Given the description of an element on the screen output the (x, y) to click on. 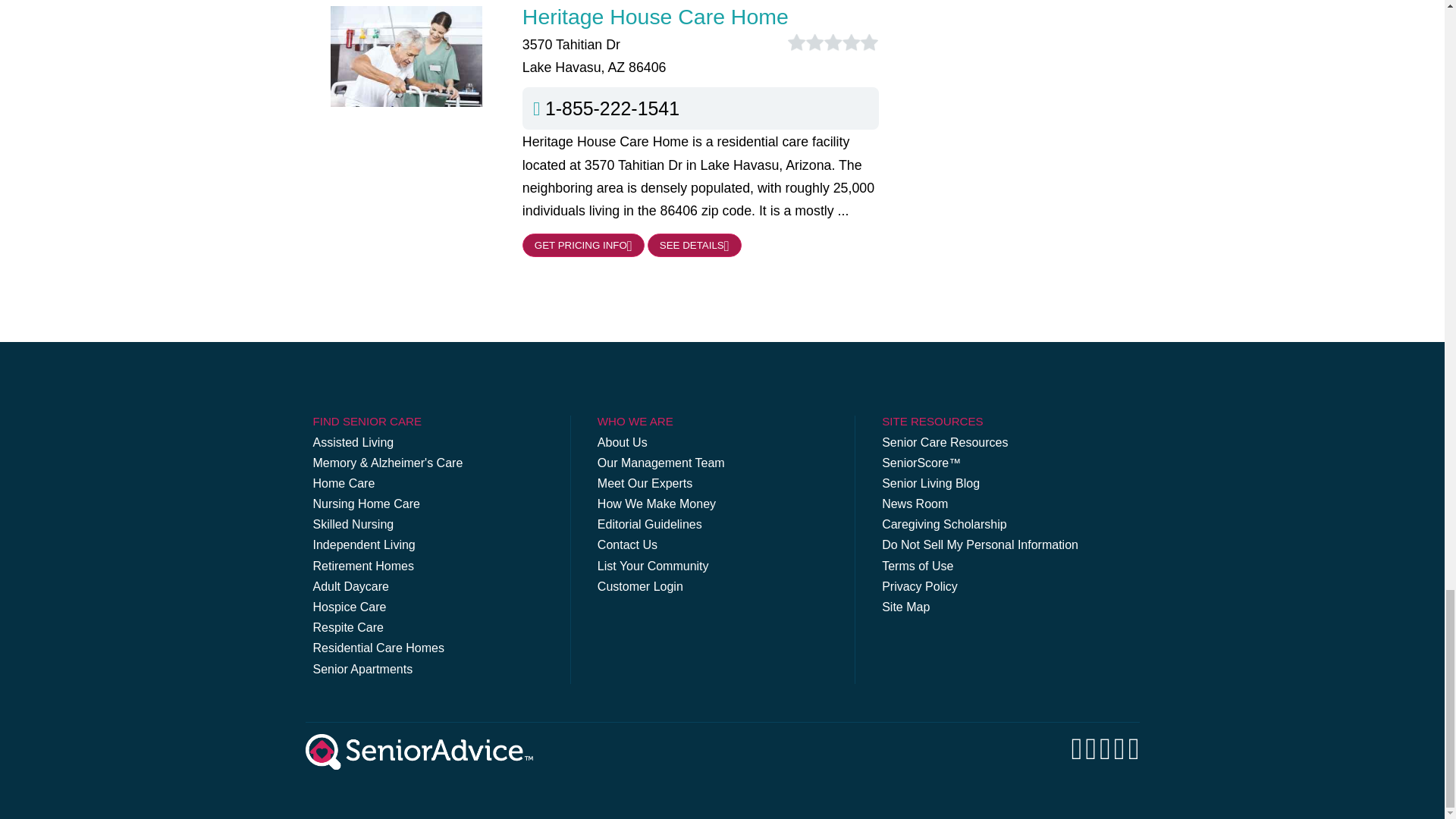
Heritage House Care Home Lake Havasu, AZ (700, 16)
